Given the description of an element on the screen output the (x, y) to click on. 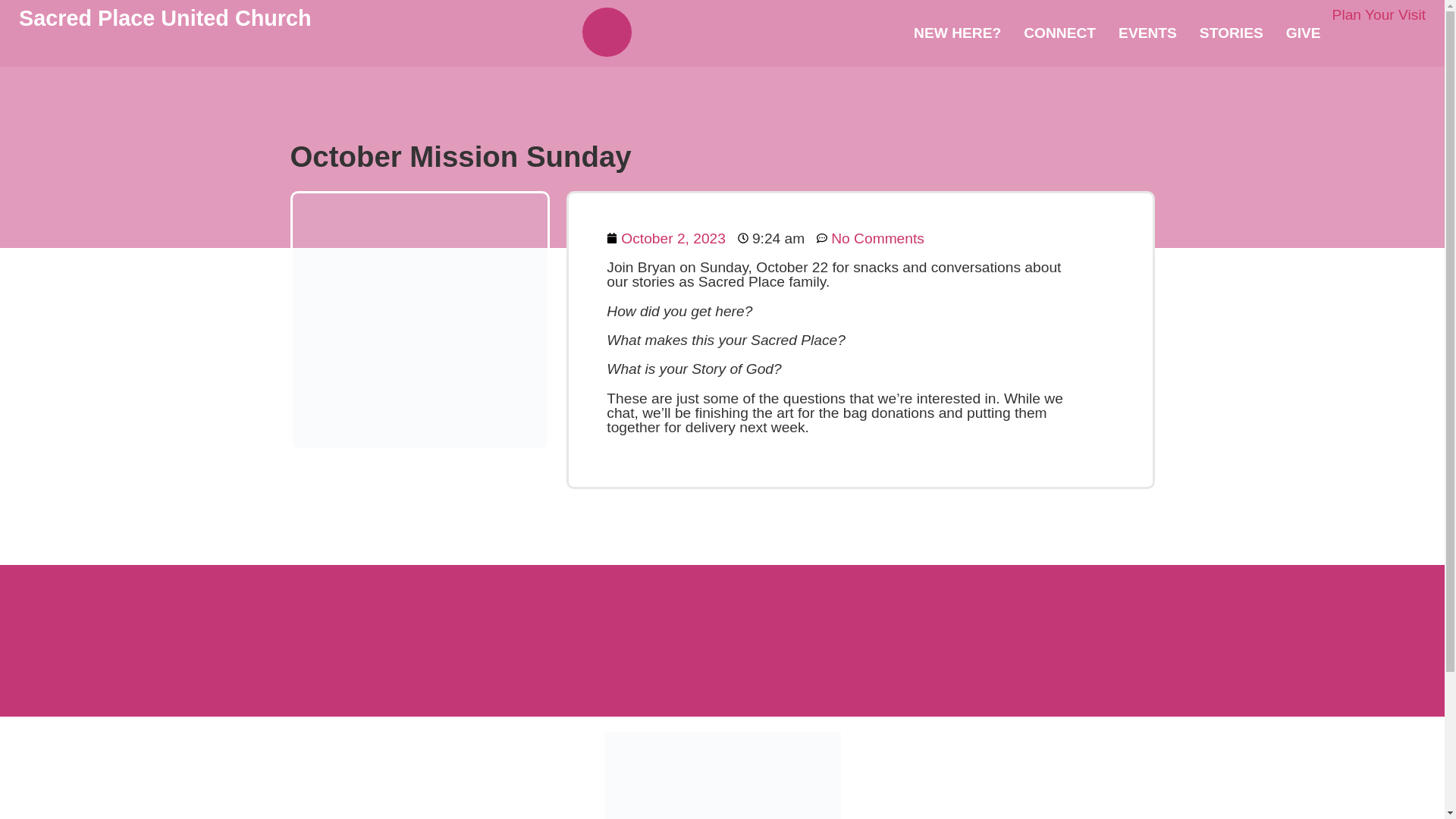
Sacred Place United Church (164, 17)
EVENTS (1147, 33)
GIVE (1303, 33)
No Comments (870, 237)
Plan Your Visit (1378, 14)
CONNECT (1058, 33)
October 2, 2023 (666, 237)
NEW HERE? (956, 33)
STORIES (1231, 33)
